Given the description of an element on the screen output the (x, y) to click on. 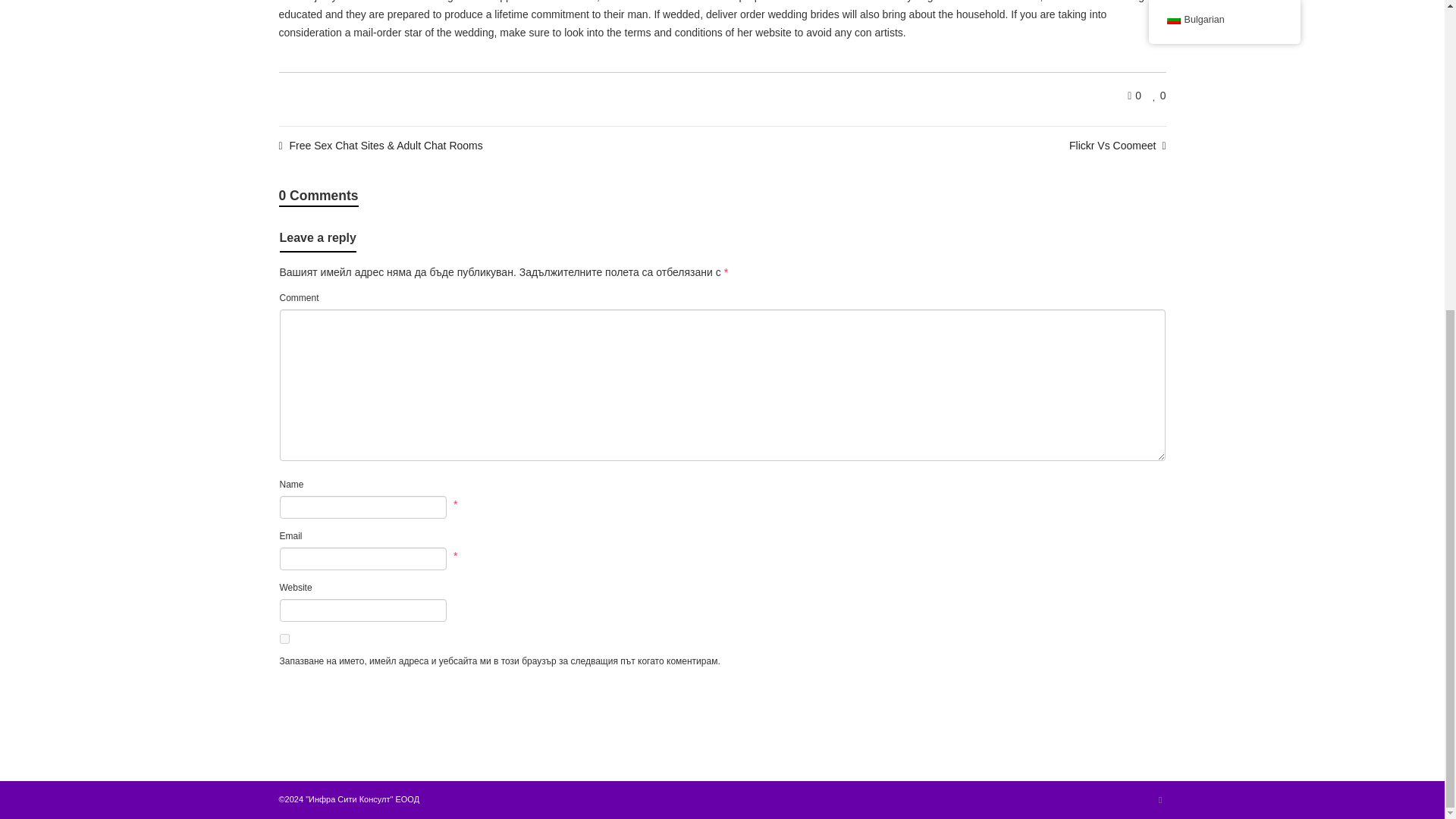
Post comment (320, 690)
Flickr Vs Coomeet (1117, 145)
Post comment (320, 690)
yes (283, 638)
